Given the description of an element on the screen output the (x, y) to click on. 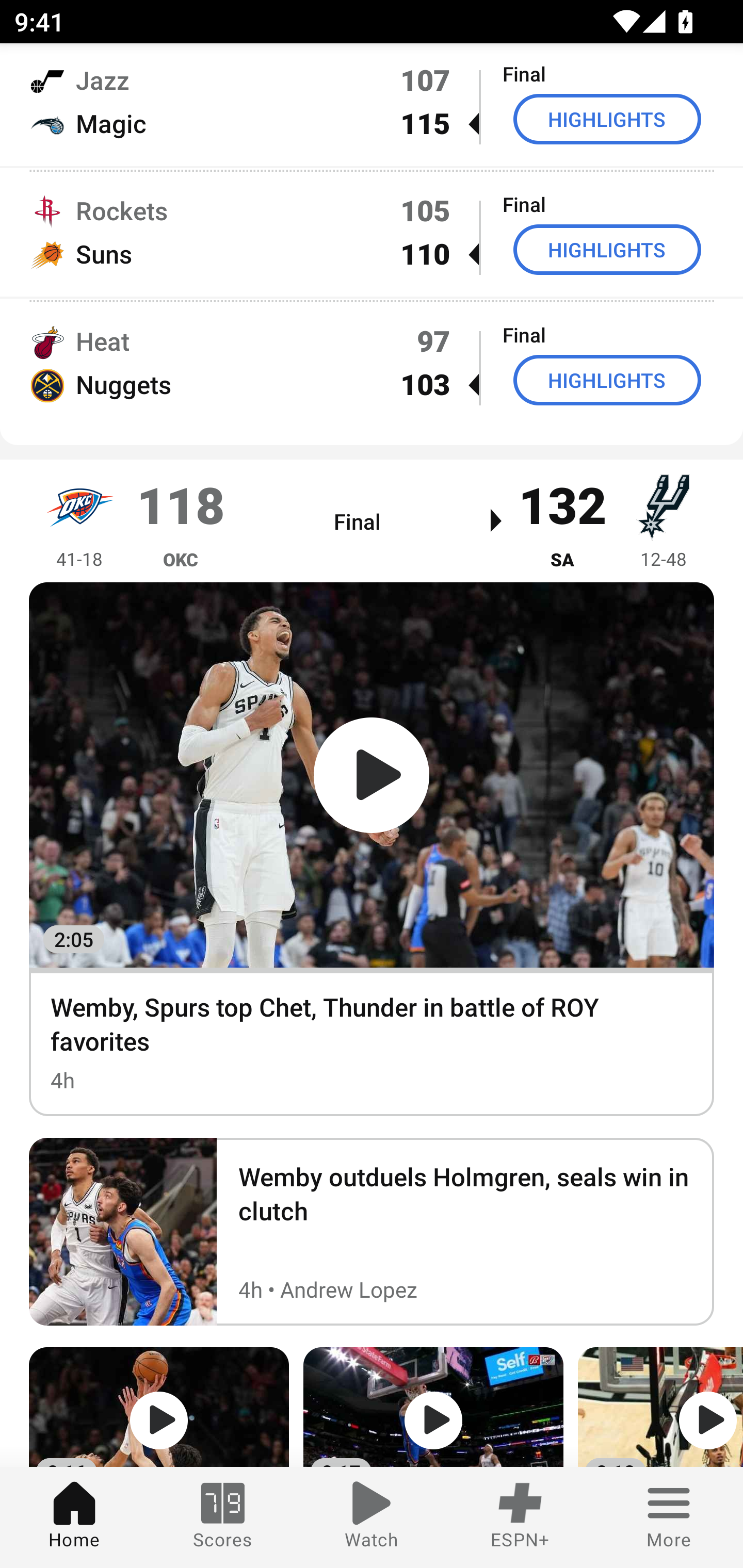
Jazz 107 Final Magic 115  HIGHLIGHTS (371, 104)
HIGHLIGHTS (607, 119)
Rockets 105 Final Suns 110  HIGHLIGHTS (371, 231)
HIGHLIGHTS (607, 249)
Heat 97 Final Nuggets 103  HIGHLIGHTS (371, 361)
HIGHLIGHTS (607, 380)
 0:16 (158, 1406)
 0:17 (433, 1406)
 0:18 (660, 1406)
Scores (222, 1517)
Watch (371, 1517)
ESPN+ (519, 1517)
More (668, 1517)
